Given the description of an element on the screen output the (x, y) to click on. 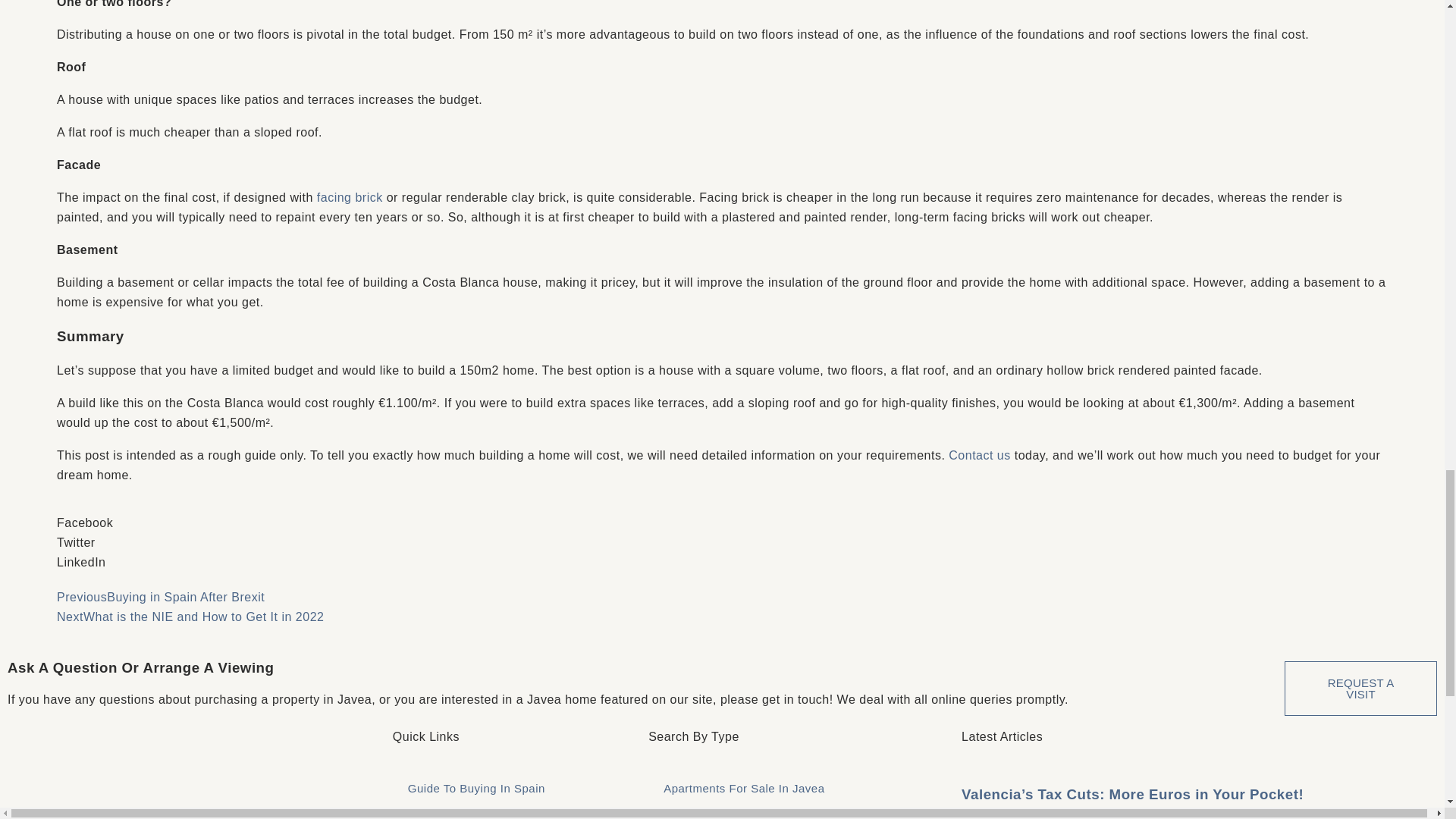
Guide To Buying In Spain (513, 788)
NextWhat is the NIE and How to Get It in 2022 (189, 616)
facing brick (349, 196)
Knowledge Hub (513, 812)
Contact us (979, 454)
REQUEST A VISIT (1360, 687)
PreviousBuying in Spain After Brexit (160, 596)
